Given the description of an element on the screen output the (x, y) to click on. 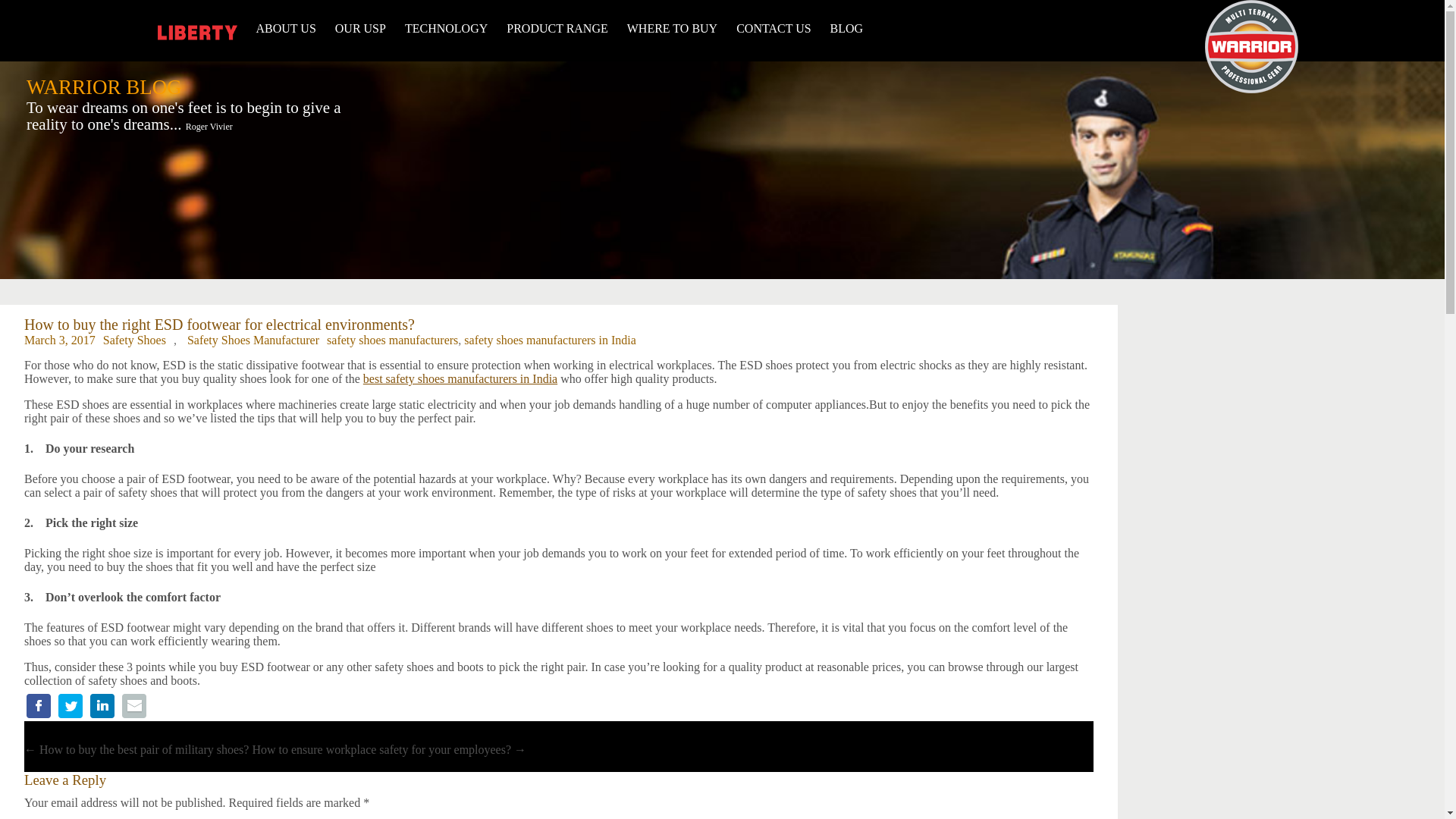
TECHNOLOGY (445, 29)
Liberty (197, 33)
CONTACT US (773, 29)
safety shoes manufacturers (392, 339)
About Us (285, 29)
Safety Shoes Manufacturer (252, 339)
Home (1251, 89)
PRODUCT RANGE (557, 29)
WHERE TO BUY (672, 29)
OUR USP (359, 29)
OUR USP (359, 29)
Safety Shoes (134, 339)
March 3, 2017 (60, 339)
BLOG (846, 29)
best safety shoes manufacturers in India (459, 378)
